Given the description of an element on the screen output the (x, y) to click on. 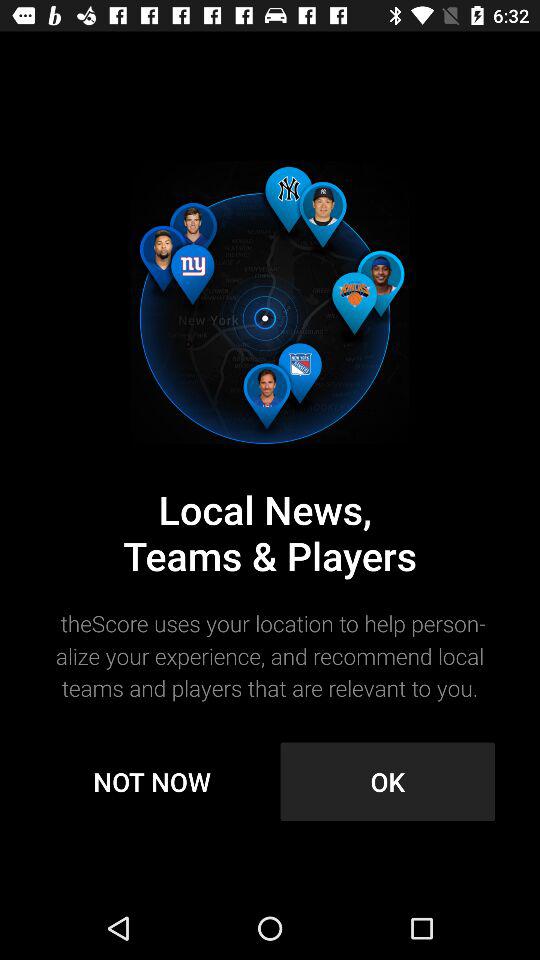
turn off the item next to not now (387, 781)
